Given the description of an element on the screen output the (x, y) to click on. 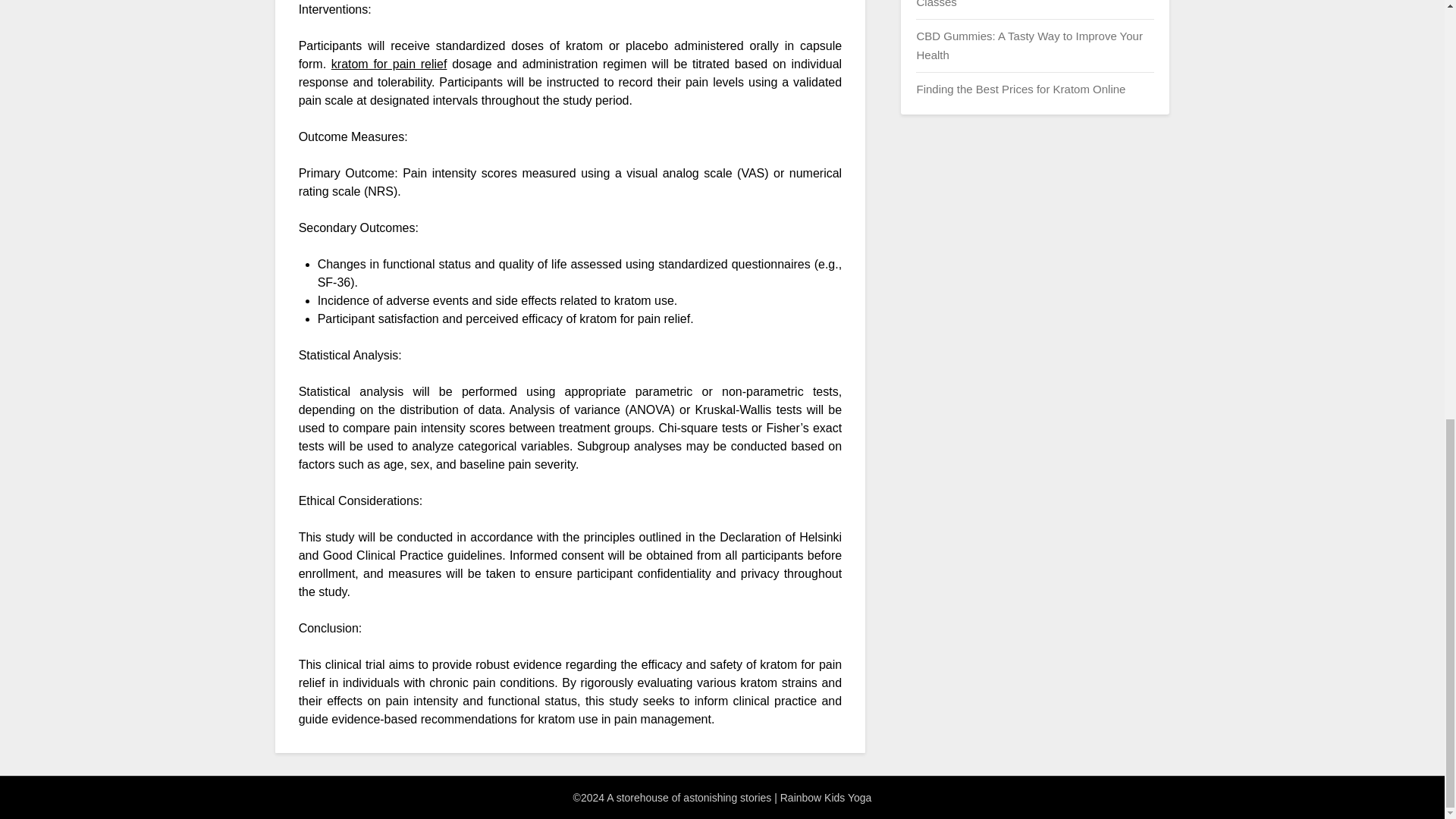
Creative Movement Activities for Pre-K Gym Classes (1026, 4)
kratom for pain relief (388, 63)
Finding the Best Prices for Kratom Online (1020, 88)
CBD Gummies: A Tasty Way to Improve Your Health (1028, 44)
